Given the description of an element on the screen output the (x, y) to click on. 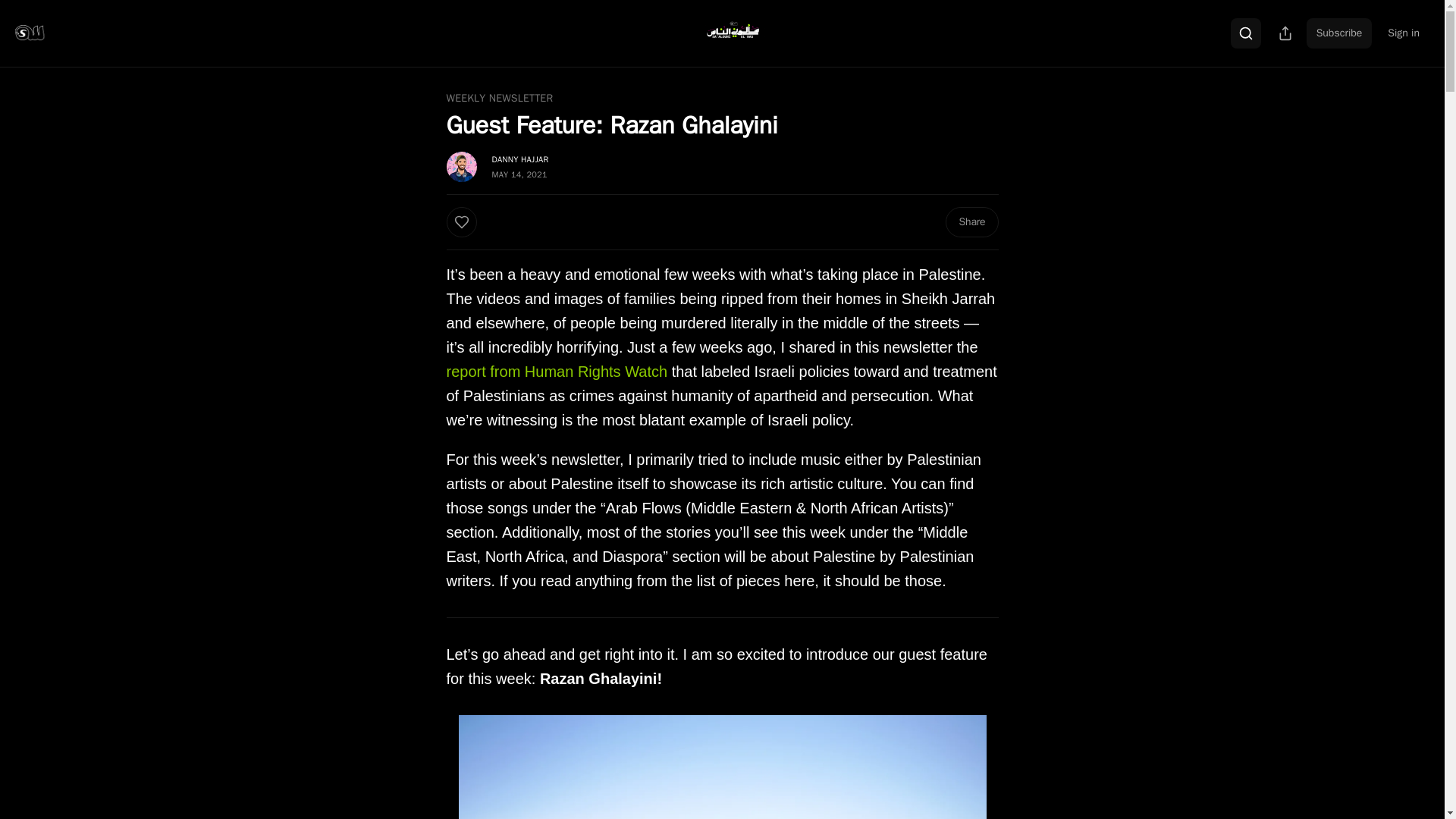
Sign in (1403, 33)
WEEKLY NEWSLETTER (499, 98)
DANNY HAJJAR (520, 158)
Share (970, 222)
Subscribe (1339, 33)
report from Human Rights Watch (555, 371)
